Given the description of an element on the screen output the (x, y) to click on. 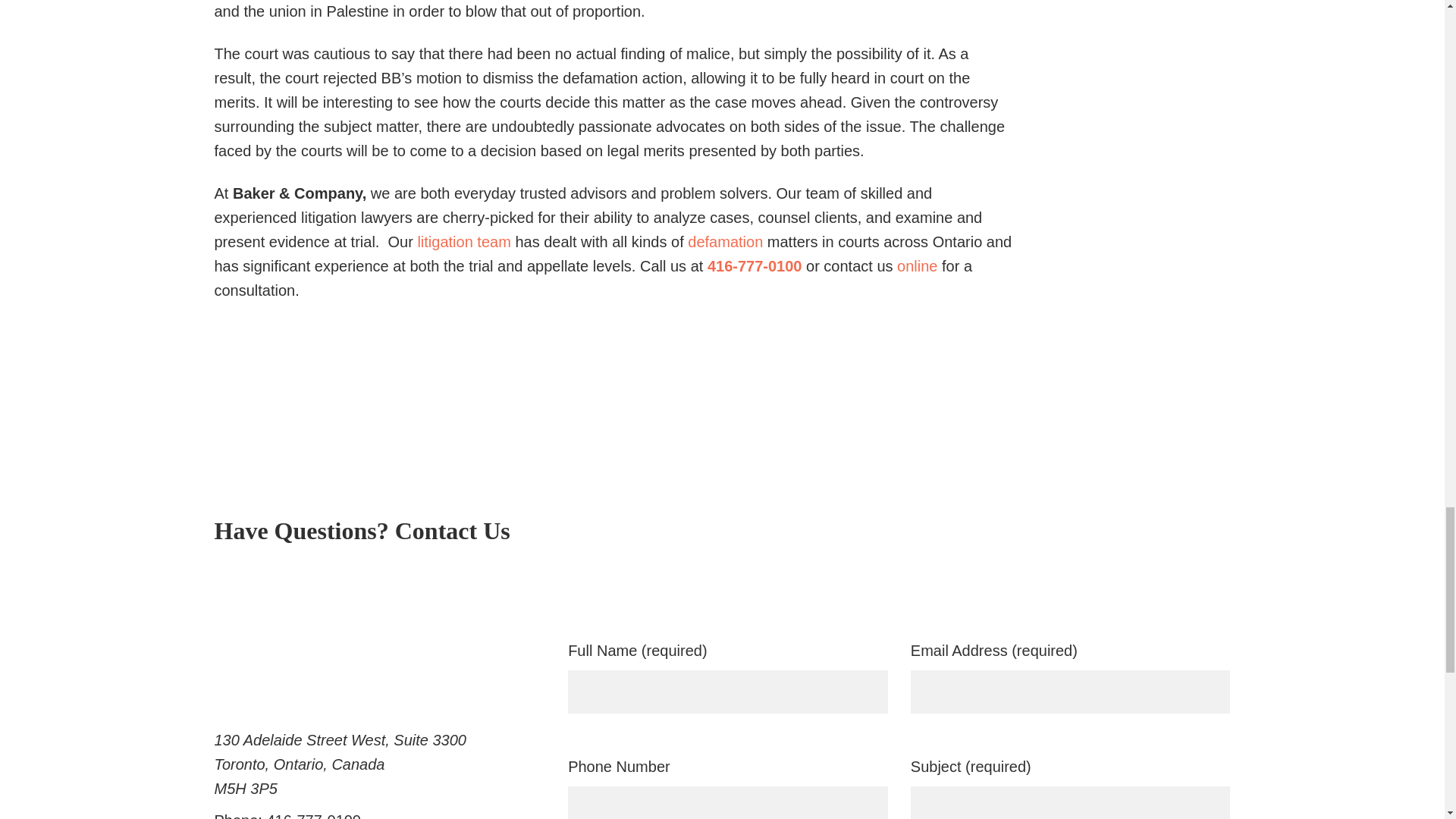
defamation (724, 241)
416-777-0100 (754, 265)
litigation team (463, 241)
online (916, 265)
